Given the description of an element on the screen output the (x, y) to click on. 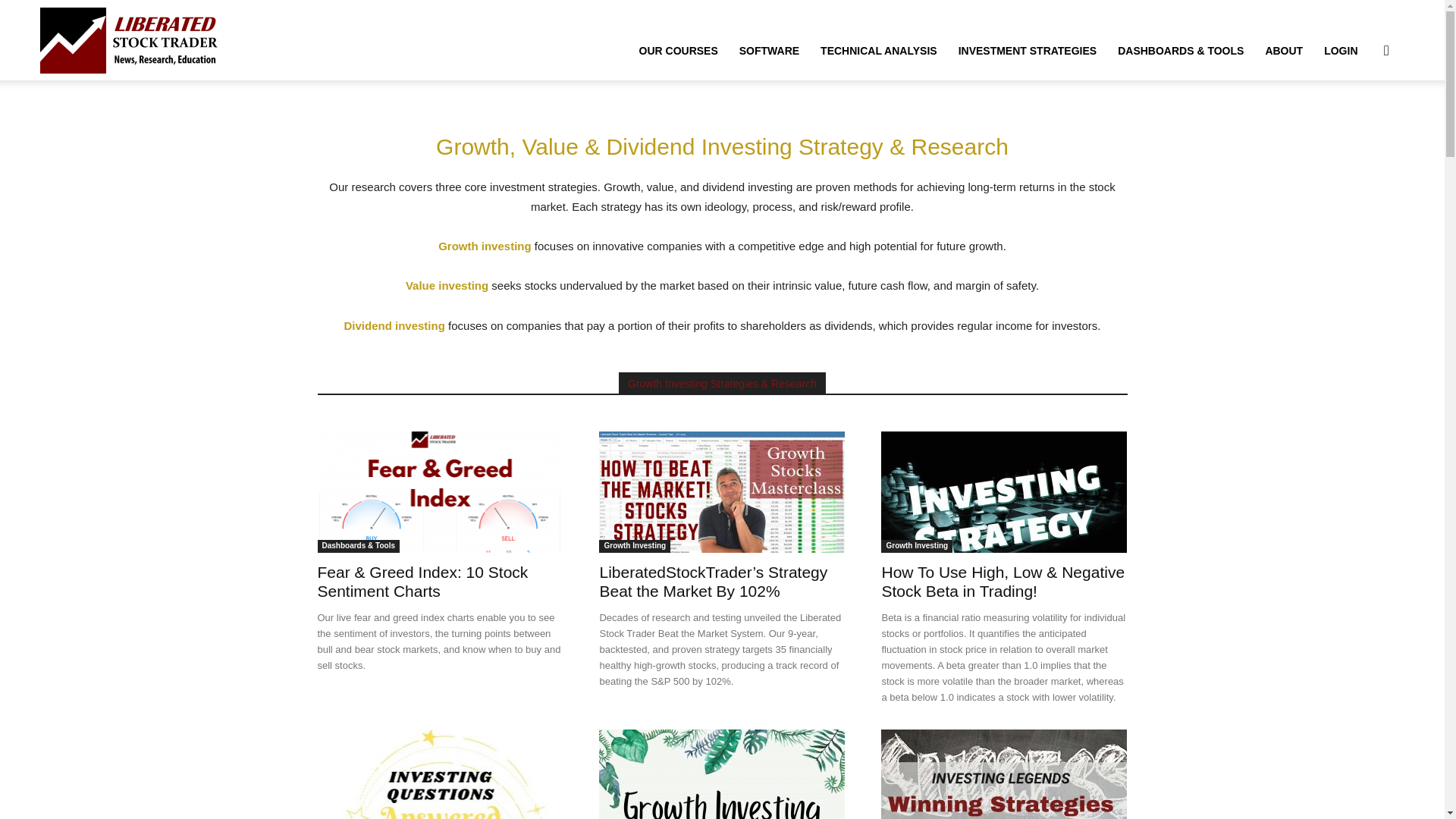
OUR COURSES (678, 50)
Liberated Stock Trader (130, 39)
Search (1362, 122)
